Given the description of an element on the screen output the (x, y) to click on. 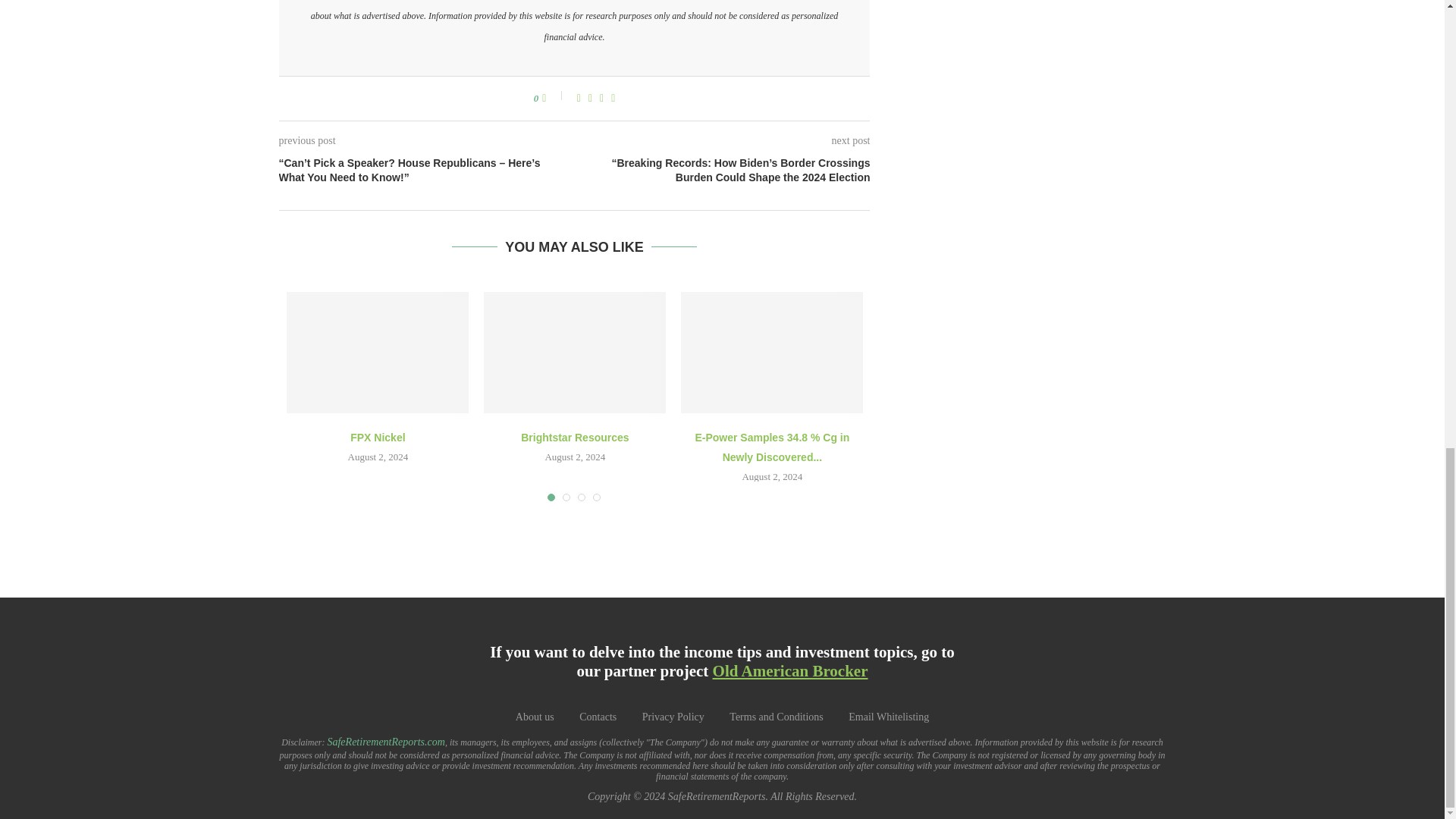
Brightstar Resources (574, 352)
Like (553, 97)
FPX Nickel (377, 352)
